Given the description of an element on the screen output the (x, y) to click on. 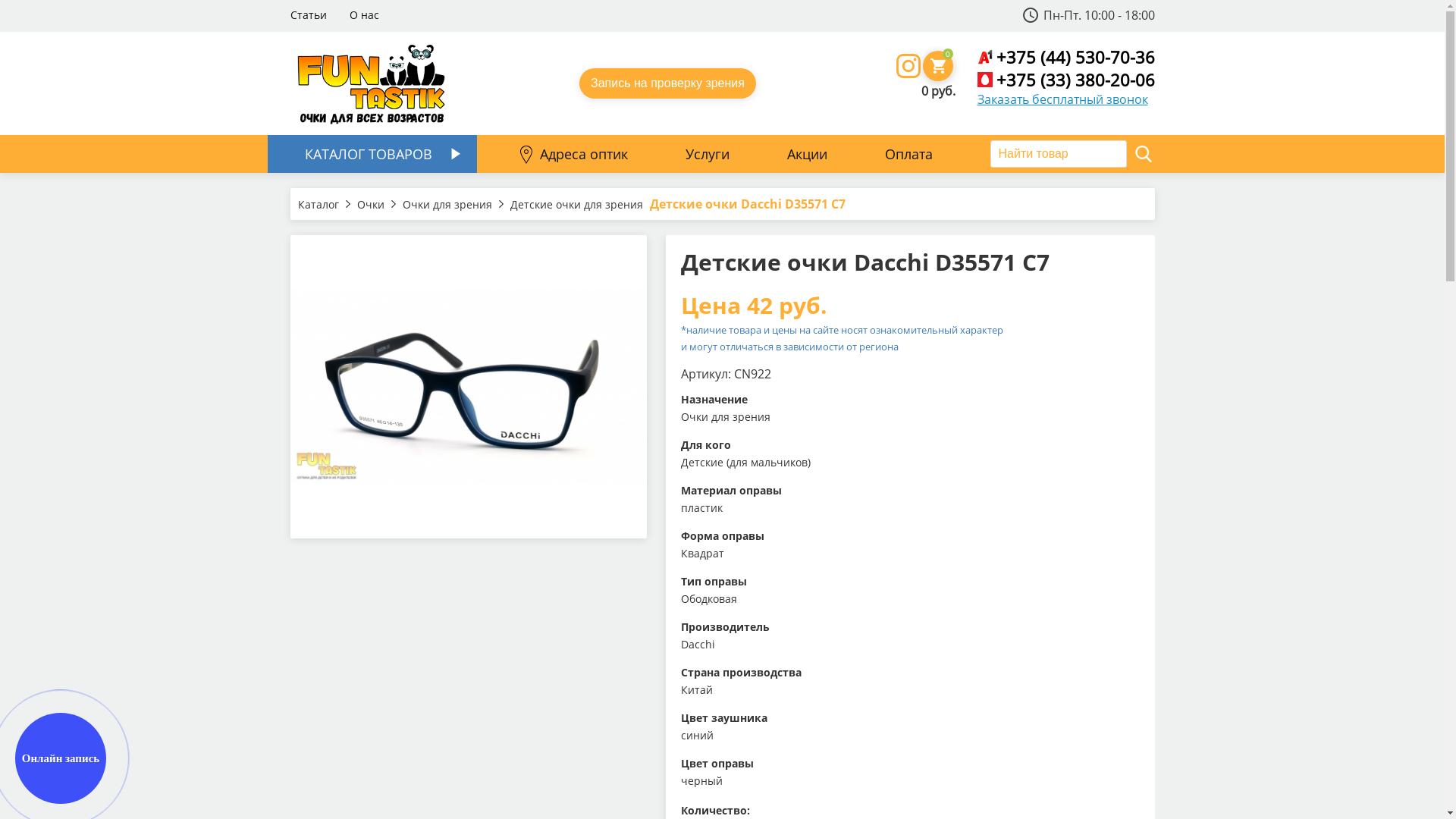
+375 (33) 380-20-06 Element type: text (1075, 79)
+375 (44) 530-70-36 Element type: text (1075, 56)
